Given the description of an element on the screen output the (x, y) to click on. 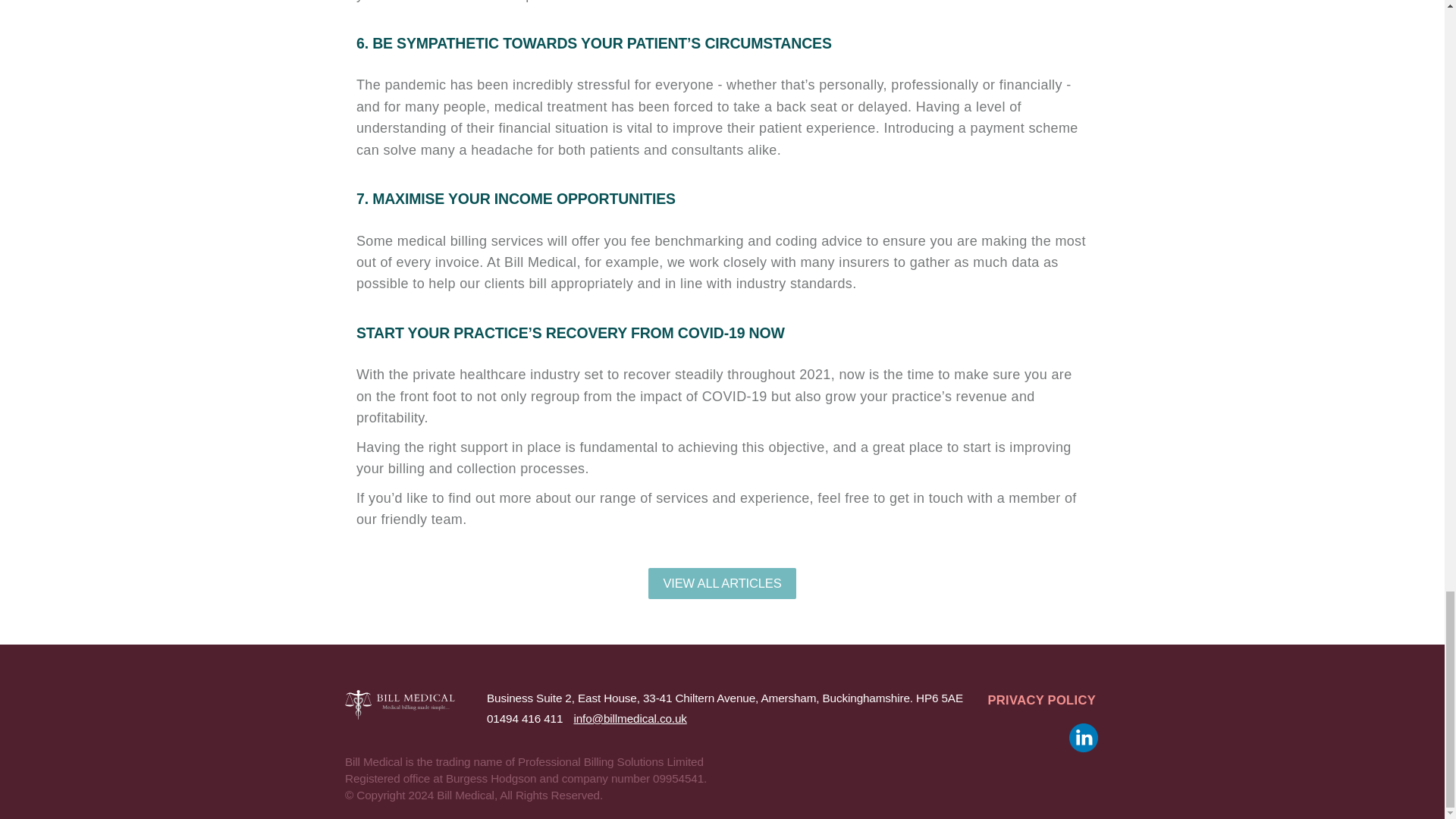
PRIVACY POLICY (1041, 700)
01494 416 411 (524, 717)
VIEW ALL ARTICLES (720, 583)
get in touch (925, 498)
